Given the description of an element on the screen output the (x, y) to click on. 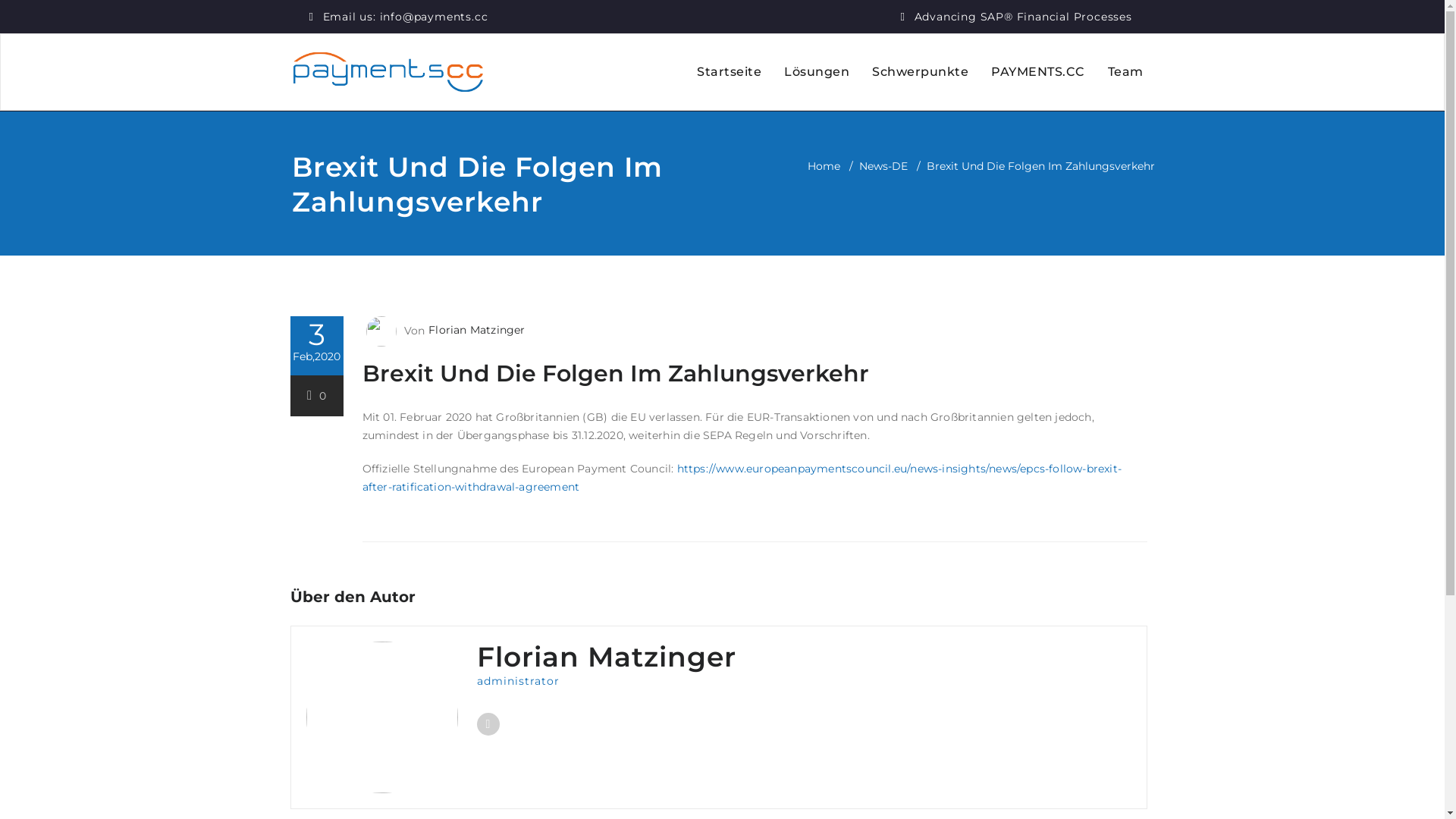
Email us: info@payments.cc Element type: text (405, 16)
Schwerpunkte Element type: text (919, 71)
Team Element type: text (1125, 71)
News-DE Element type: text (882, 165)
PAYMENTS.CC Element type: text (1037, 71)
Startseite Element type: text (728, 71)
Florian Matzinger Element type: text (474, 329)
0 Element type: text (316, 395)
Home Element type: text (822, 165)
Brexit Und Die Folgen Im Zahlungsverkehr Element type: text (615, 373)
